Given the description of an element on the screen output the (x, y) to click on. 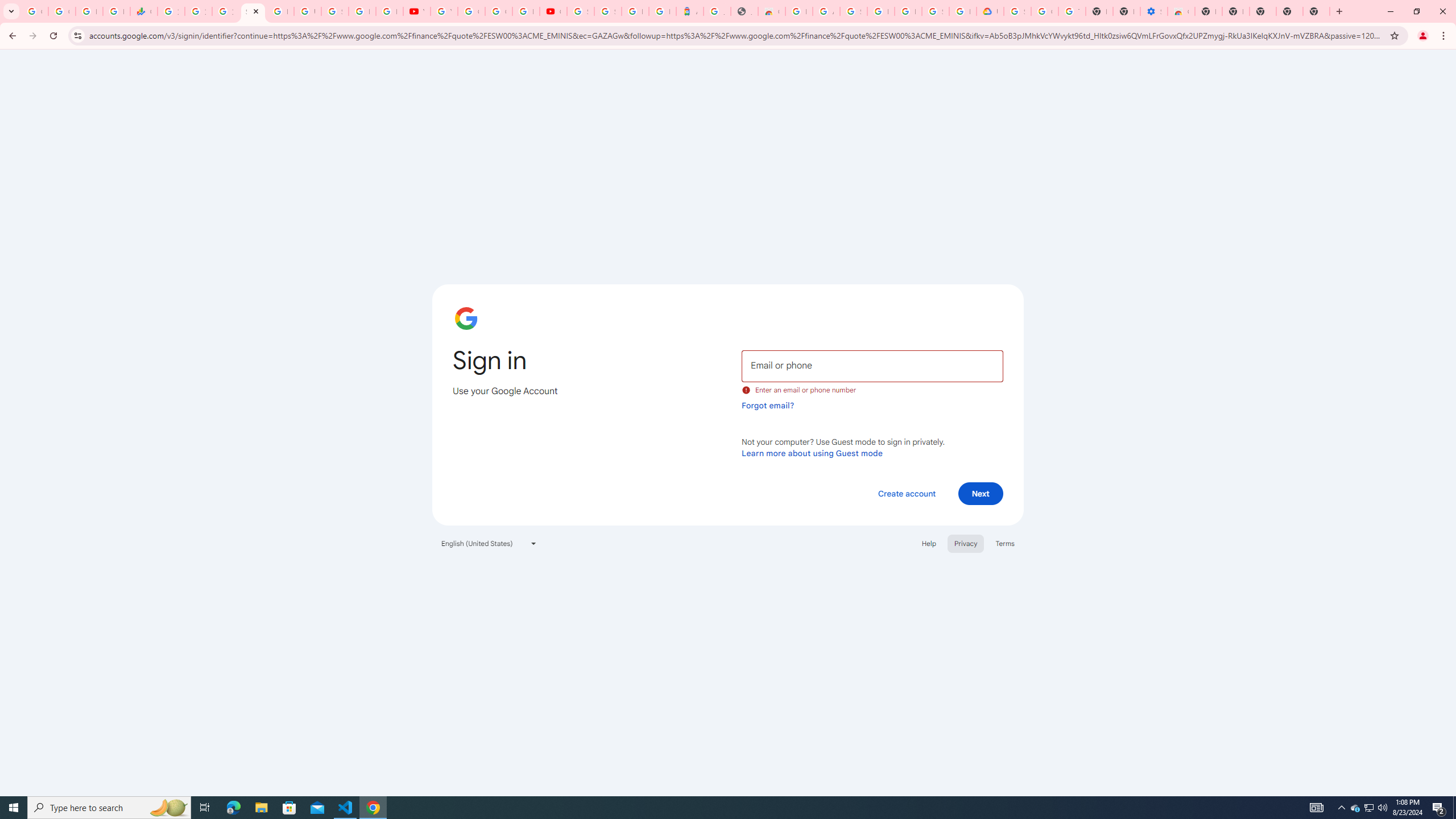
Sign in - Google Accounts (580, 11)
YouTube (444, 11)
Ad Settings (826, 11)
Sign in - Google Accounts (1017, 11)
Google Account Help (1044, 11)
YouTube (416, 11)
Create account (905, 493)
New Tab (1316, 11)
Google Account Help (471, 11)
